Given the description of an element on the screen output the (x, y) to click on. 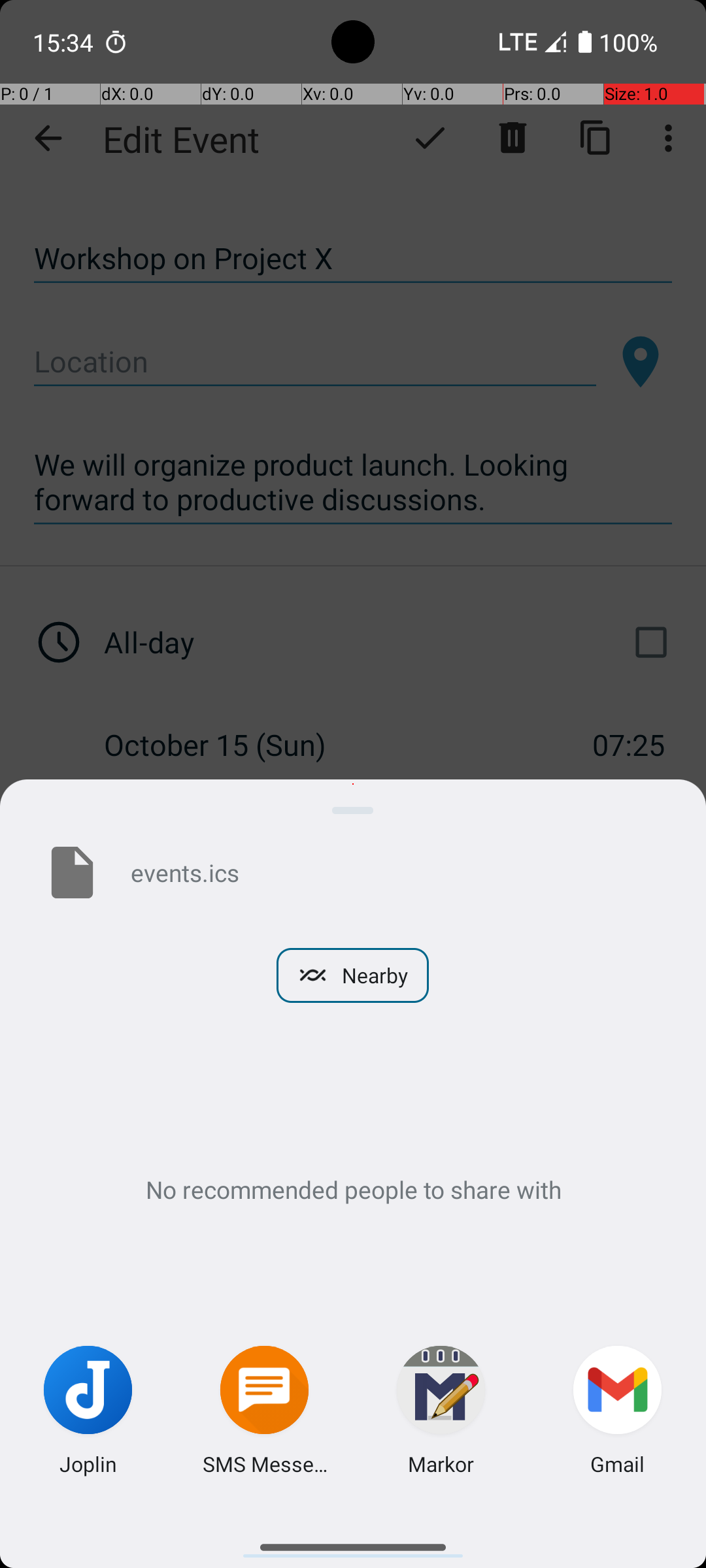
events.ics Element type: android.widget.TextView (397, 872)
